Given the description of an element on the screen output the (x, y) to click on. 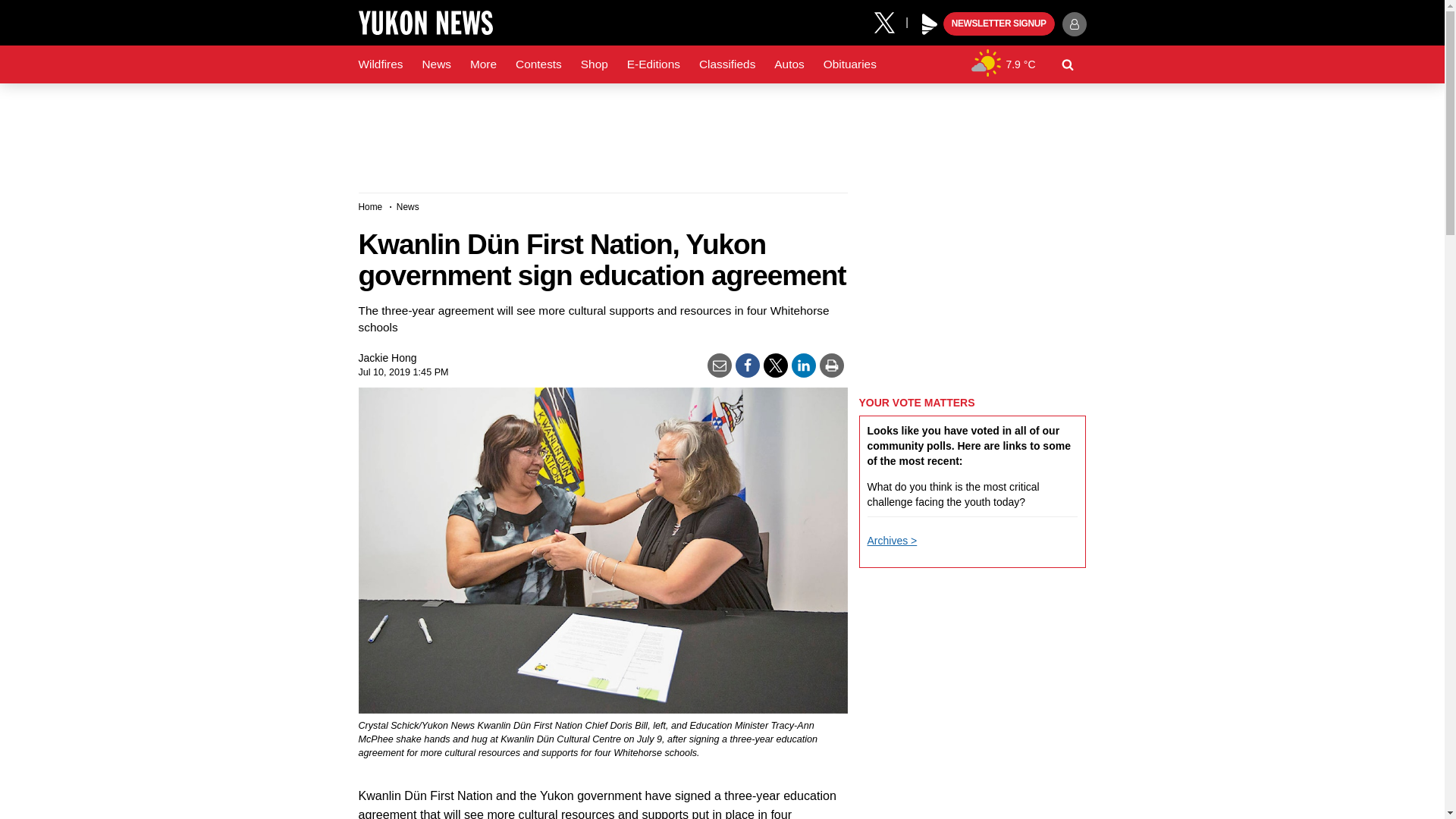
News (435, 64)
Black Press Media (929, 24)
X (889, 21)
Play (929, 24)
NEWSLETTER SIGNUP (998, 24)
Wildfires (380, 64)
